Given the description of an element on the screen output the (x, y) to click on. 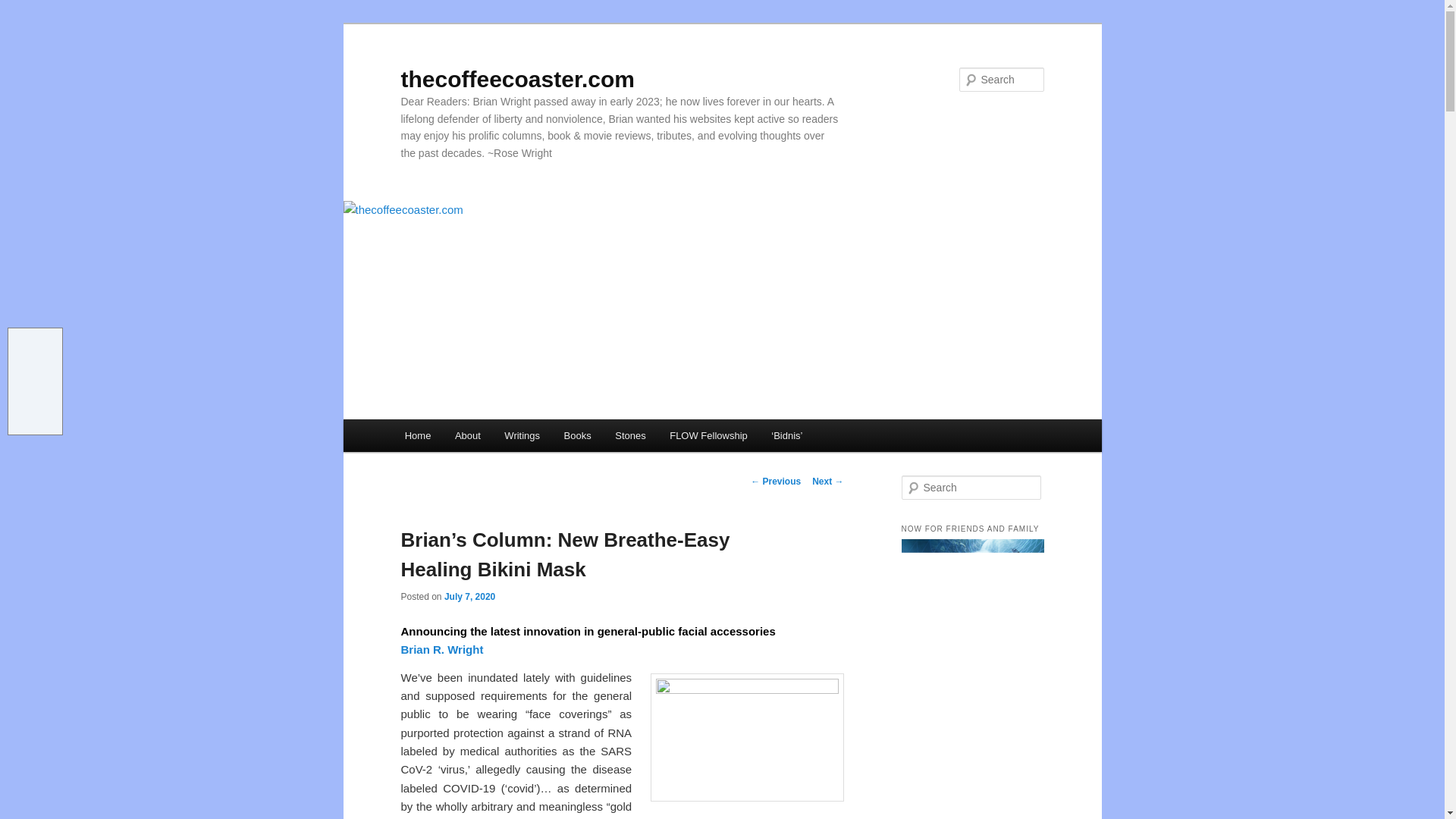
thecoffeecoaster.com (516, 78)
Writings (522, 435)
14:28 (469, 596)
Home (417, 435)
Brian R. Wright (441, 649)
About (467, 435)
FLOW Fellowship (708, 435)
Books (577, 435)
Stones (630, 435)
